Given the description of an element on the screen output the (x, y) to click on. 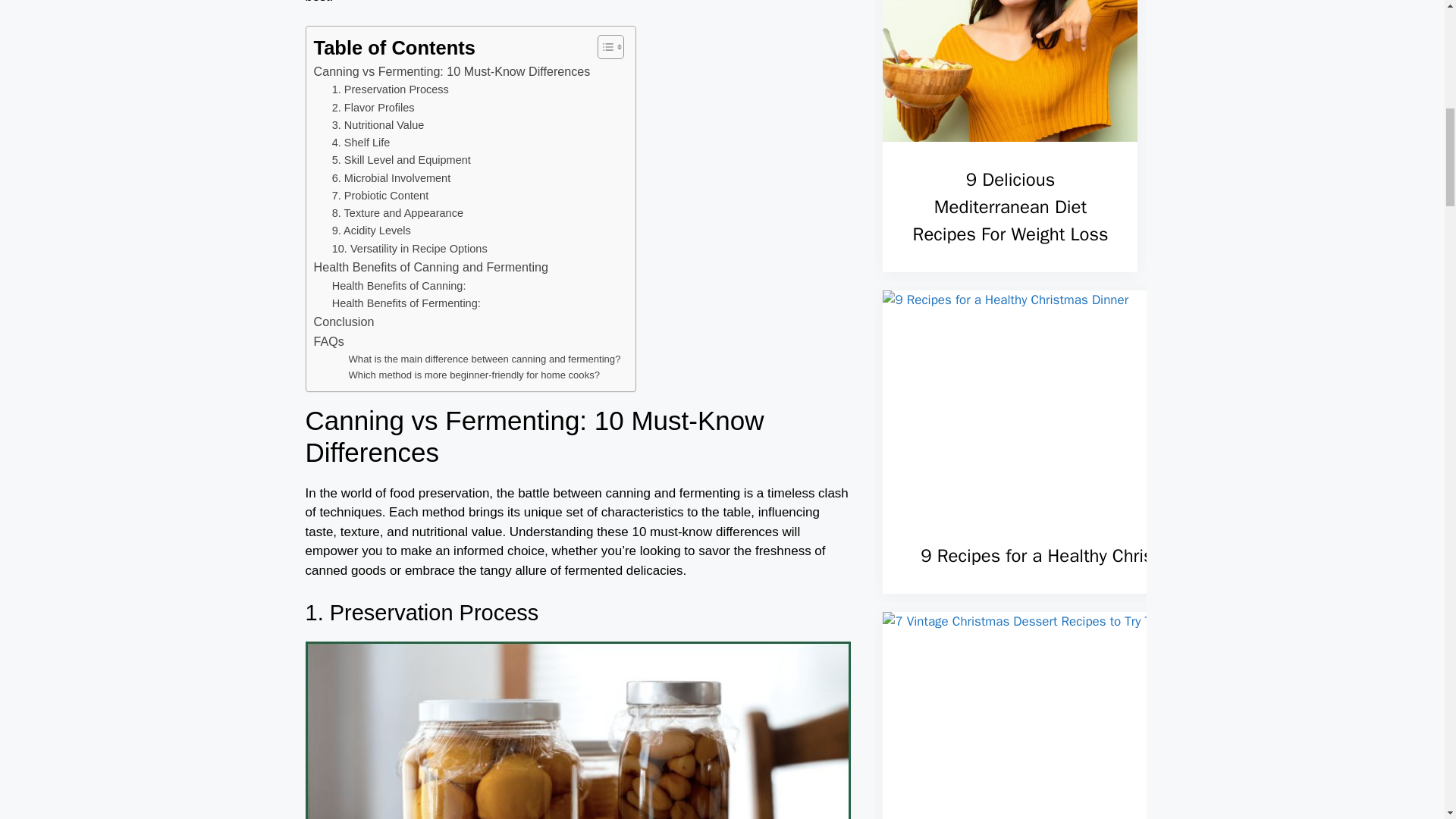
4. Shelf Life (360, 142)
6. Microbial Involvement (391, 178)
5. Skill Level and Equipment (400, 159)
3. Nutritional Value (378, 125)
7. Probiotic Content (380, 195)
2. Flavor Profiles (372, 108)
2. Flavor Profiles (372, 108)
Which method is more beginner-friendly for home cooks? (474, 375)
Canning vs Fermenting: 10 Must-Know Differences (452, 71)
5. Skill Level and Equipment (400, 159)
7. Probiotic Content (380, 195)
3. Nutritional Value (378, 125)
10. Versatility in Recipe Options (409, 248)
8. Texture and Appearance (397, 212)
4. Shelf Life (360, 142)
